Given the description of an element on the screen output the (x, y) to click on. 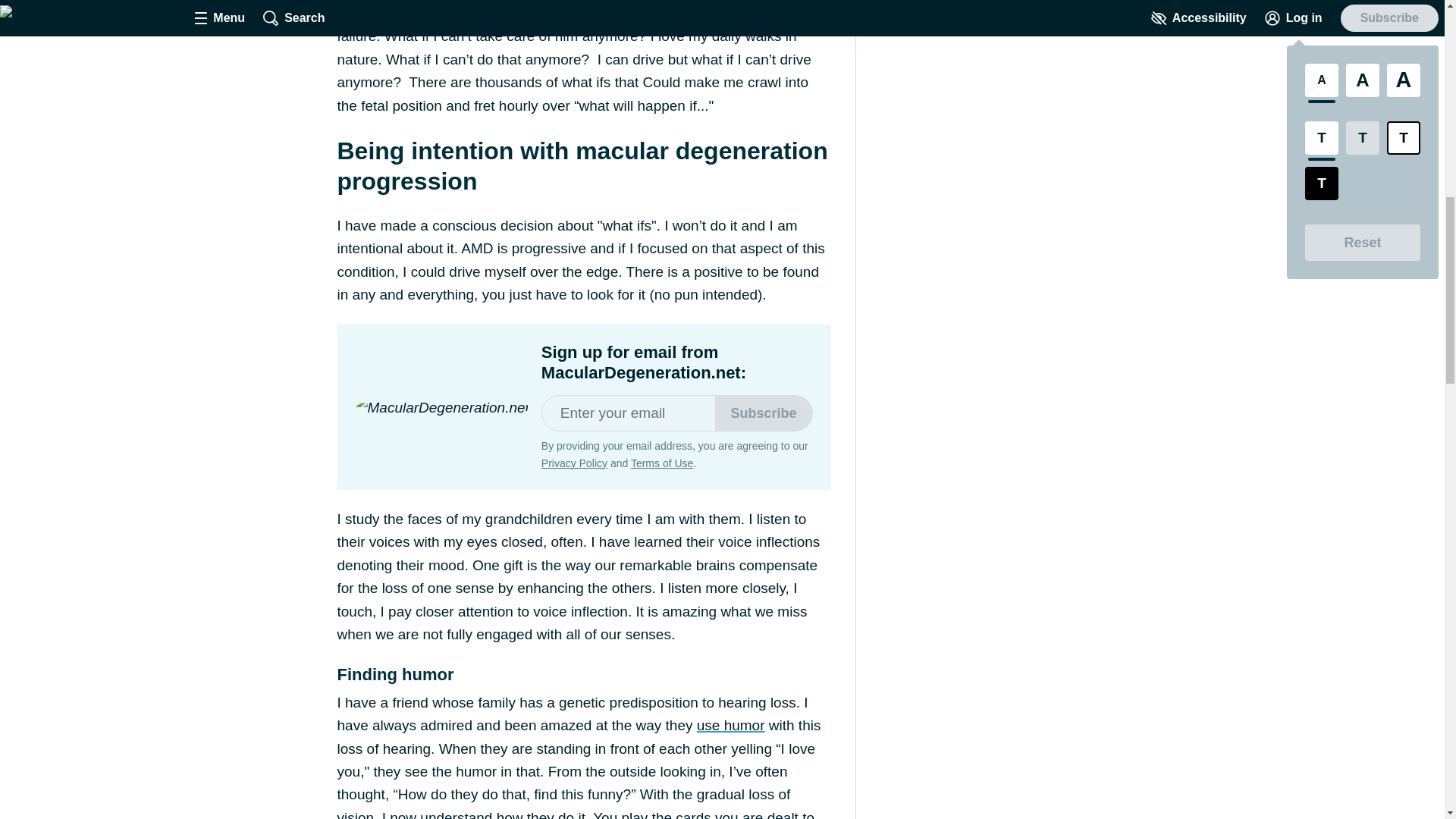
Privacy Policy (574, 463)
Subscribe (763, 412)
Terms of Use (661, 463)
use humor (731, 725)
